Given the description of an element on the screen output the (x, y) to click on. 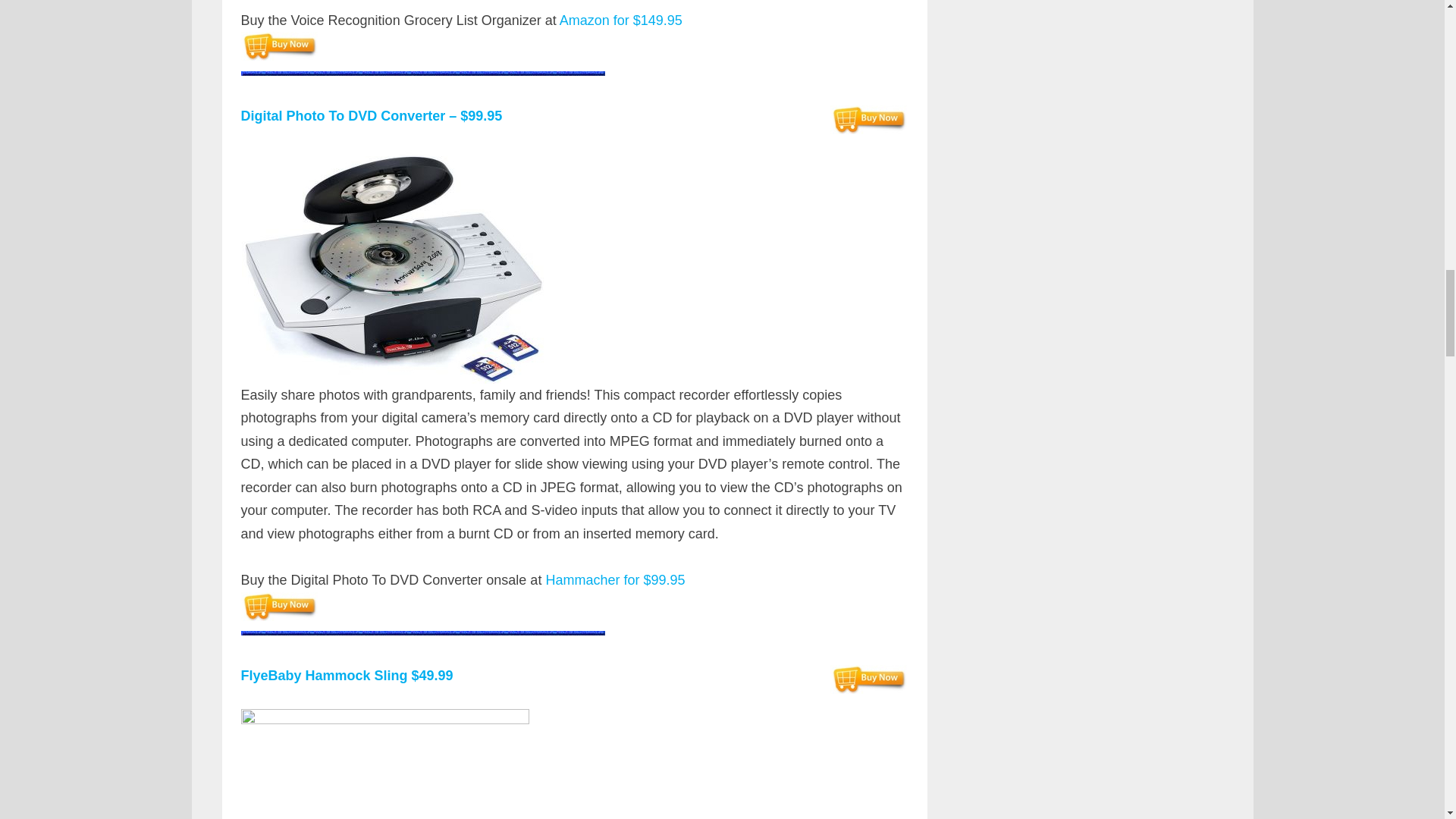
buy now (279, 45)
buy now (279, 606)
flye baby (385, 763)
photo to dvd converter (392, 266)
